Given the description of an element on the screen output the (x, y) to click on. 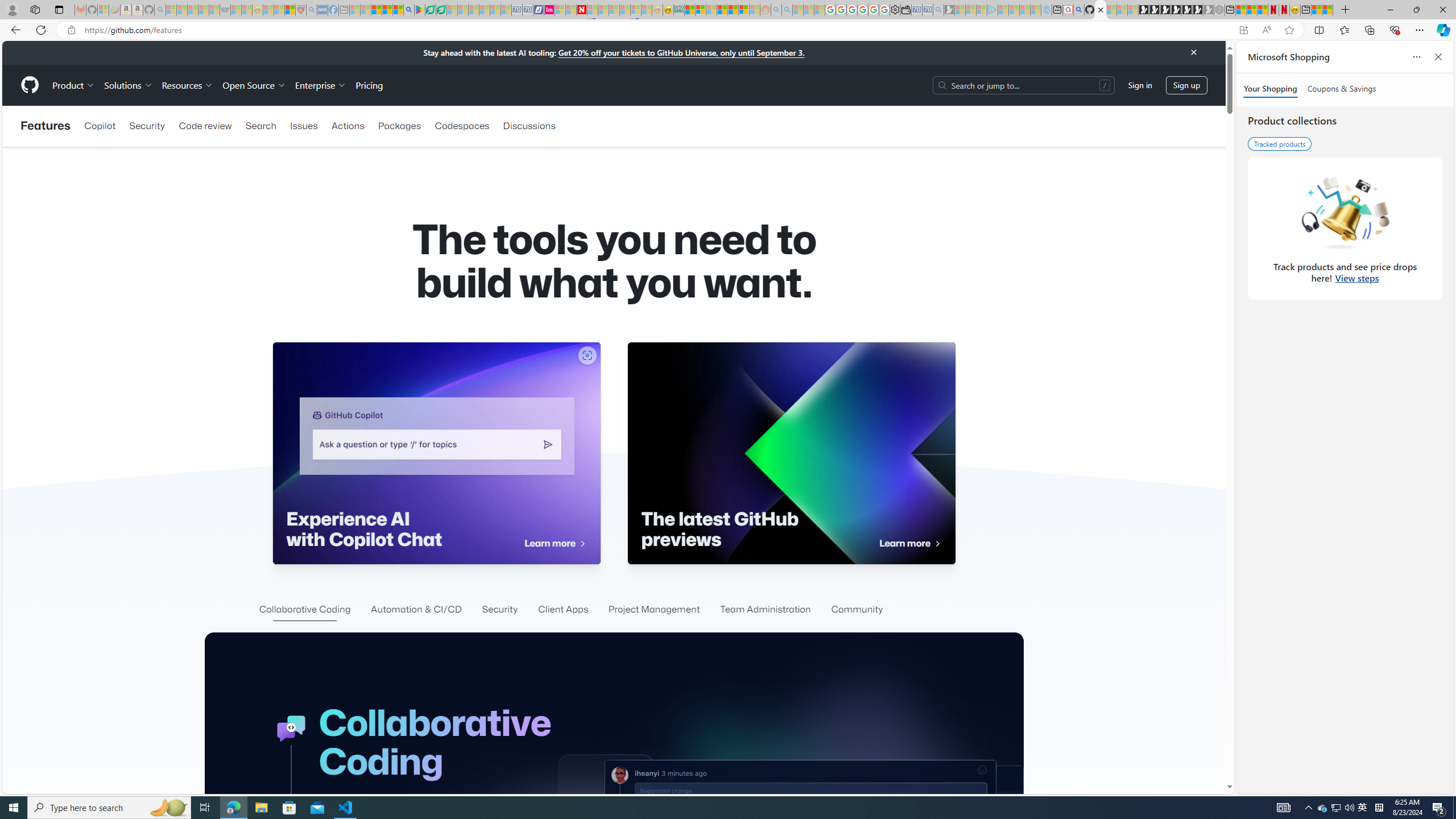
The latest GitHub previews Learn more  (791, 453)
Packages (398, 125)
Expert Portfolios (721, 9)
Discussions (529, 125)
Terms of Use Agreement (430, 9)
